Given the description of an element on the screen output the (x, y) to click on. 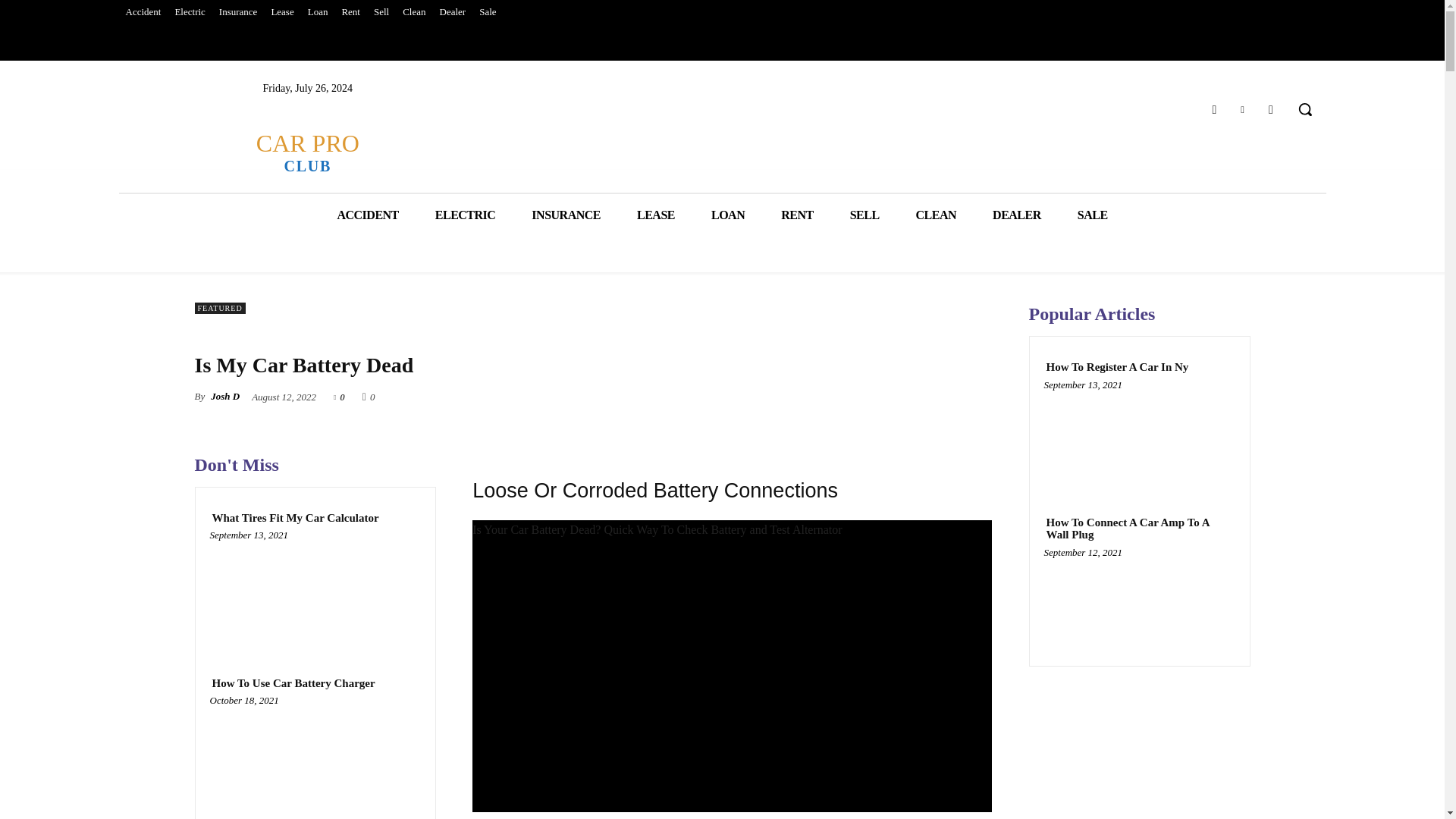
Insurance (238, 12)
Accident (142, 12)
How To Use Car Battery Charger (314, 756)
Clean (414, 12)
Sale (486, 12)
Facebook (1214, 109)
Twitter (1241, 109)
What Tires Fit My Car Calculator (294, 517)
ACCIDENT (367, 214)
Sell (381, 12)
Lease (306, 151)
Loan (281, 12)
Youtube (317, 12)
ELECTRIC (1270, 109)
